Given the description of an element on the screen output the (x, y) to click on. 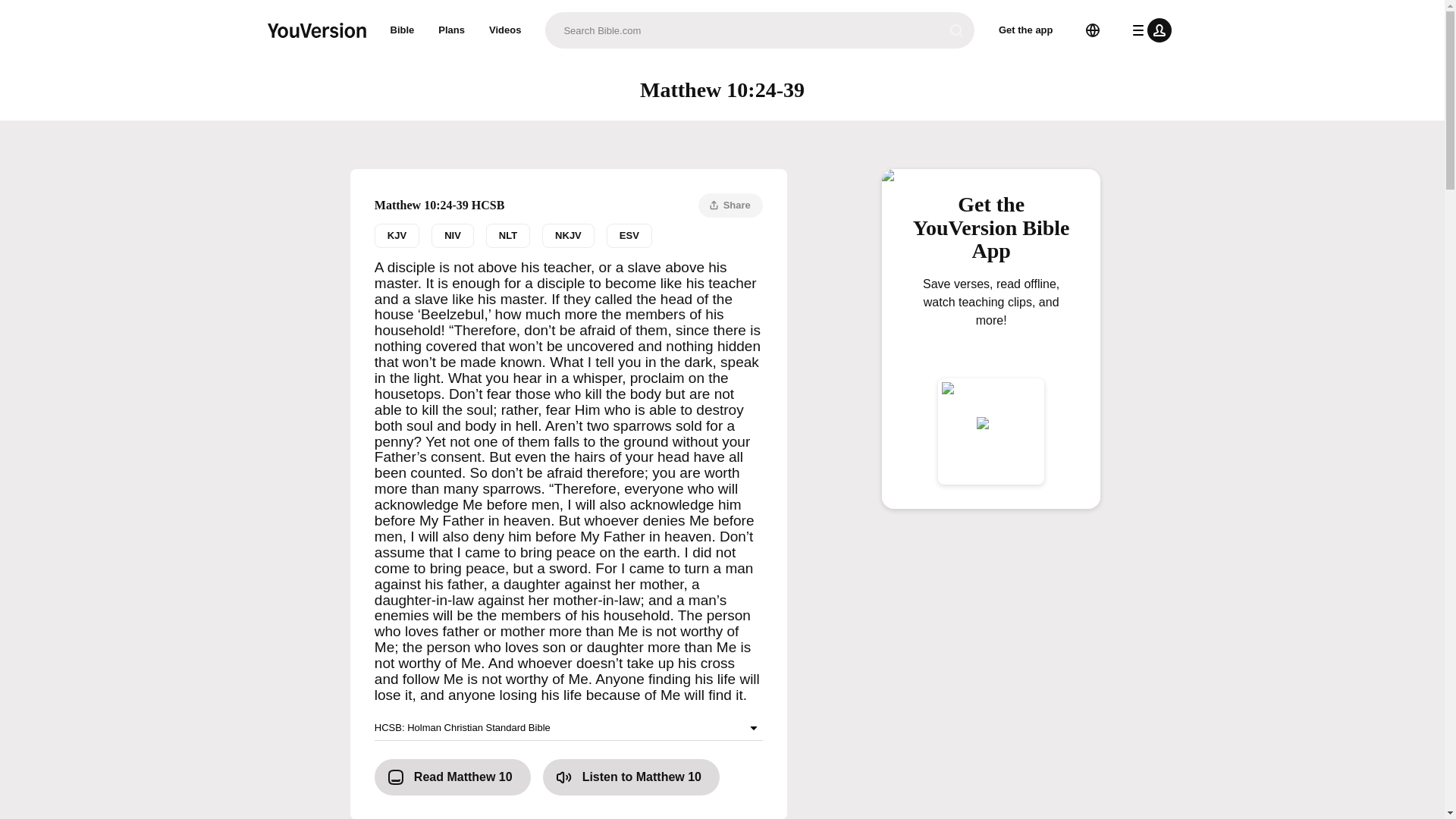
Bible (401, 29)
Listen to Matthew 10 (631, 777)
NIV (568, 235)
Videos (452, 235)
KJV (504, 29)
Read Matthew 10 (396, 235)
NLT (452, 777)
HCSB: Holman Christian Standard Bible (507, 235)
Plans (568, 728)
